Given the description of an element on the screen output the (x, y) to click on. 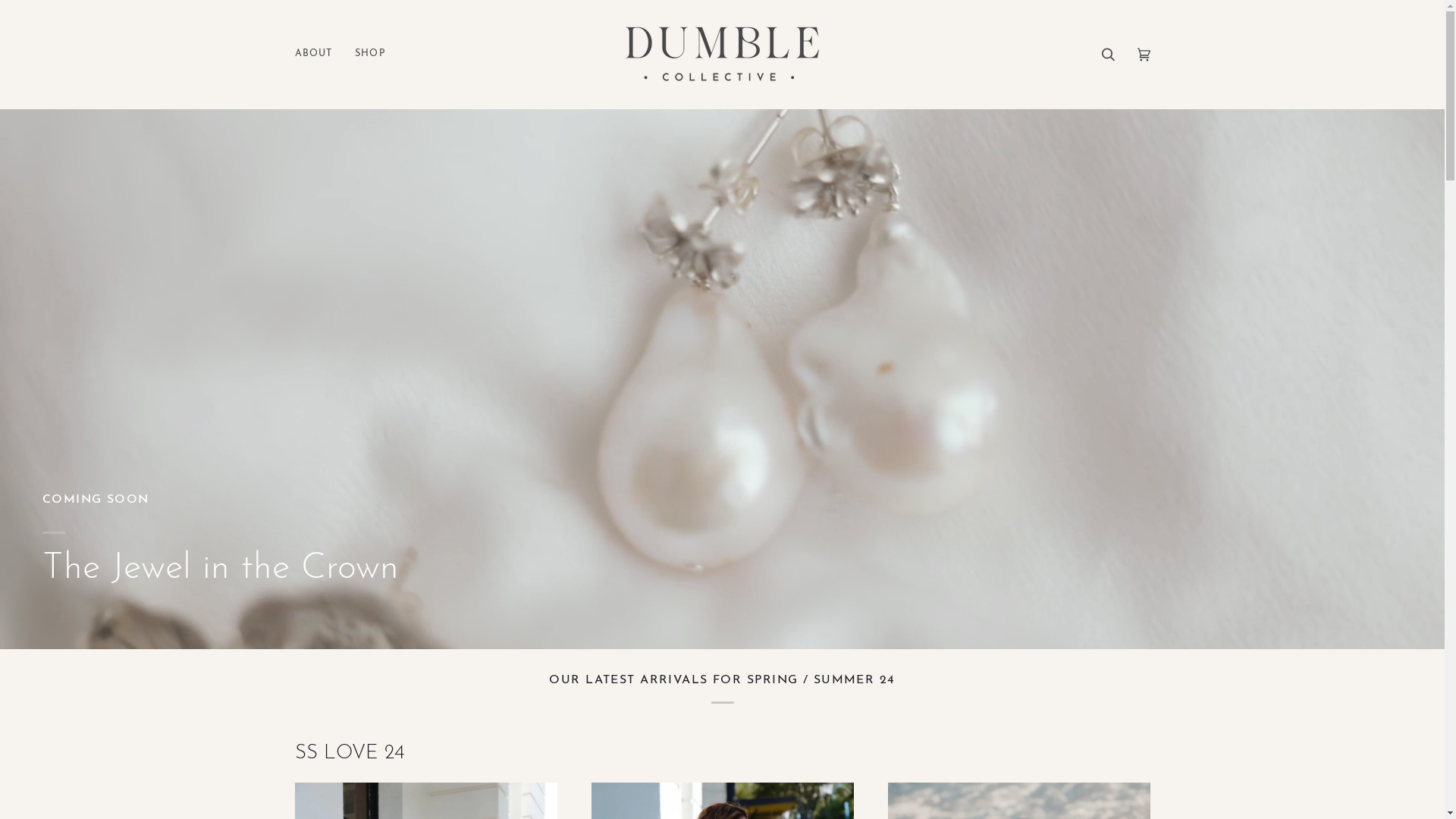
Cart
(0) Element type: text (1143, 54)
ABOUT Element type: text (318, 54)
Search Element type: text (1108, 54)
SHOP Element type: text (370, 54)
SS LOVE 24 Element type: text (348, 753)
